Given the description of an element on the screen output the (x, y) to click on. 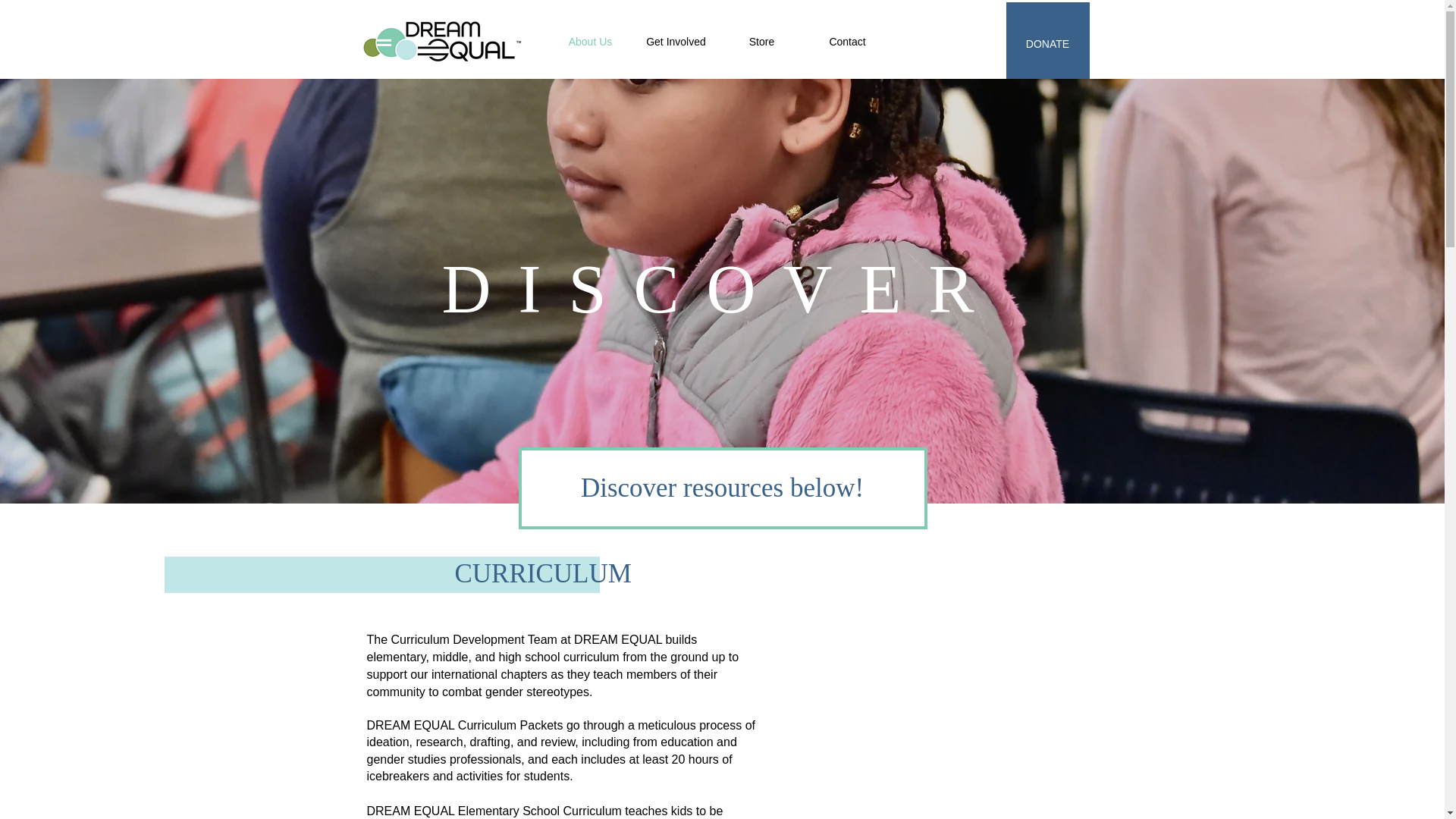
DONATE (1047, 44)
Get Involved (676, 41)
Contact (847, 41)
About Us (590, 41)
Store (762, 41)
